Given the description of an element on the screen output the (x, y) to click on. 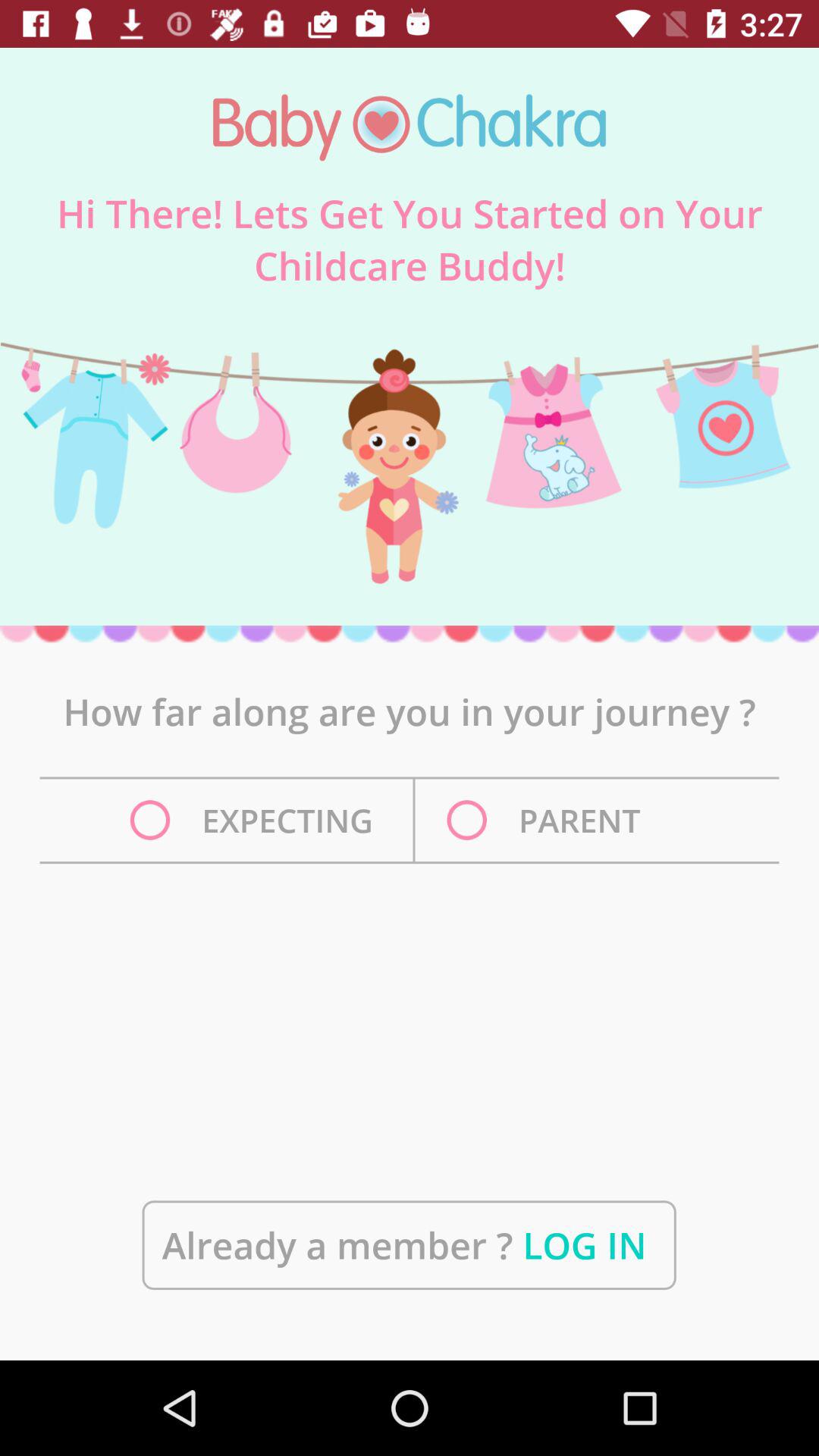
scroll until the parent (547, 820)
